Given the description of an element on the screen output the (x, y) to click on. 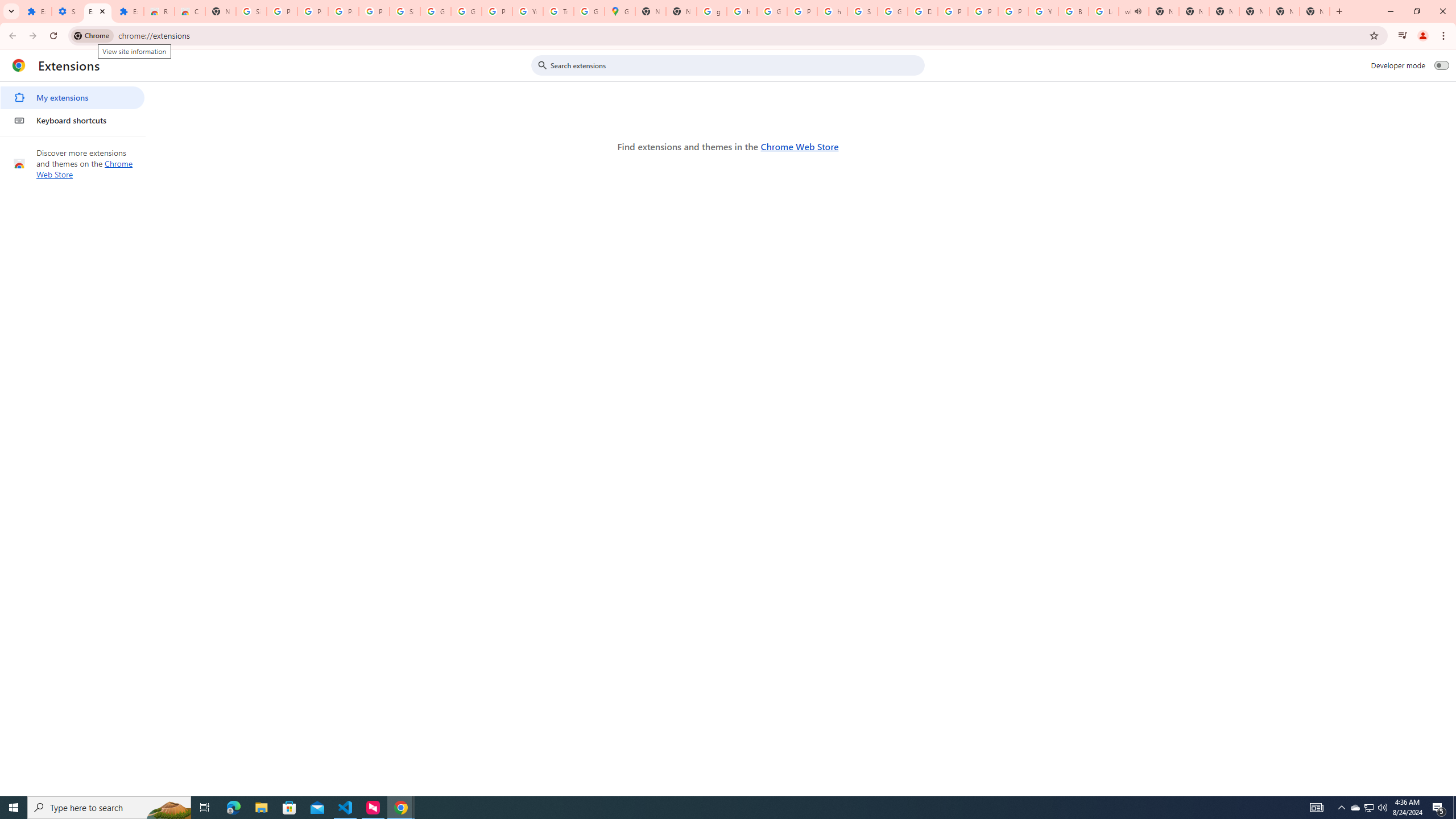
Developer mode (1442, 64)
Sign in - Google Accounts (862, 11)
YouTube (1042, 11)
Extensions (127, 11)
